Given the description of an element on the screen output the (x, y) to click on. 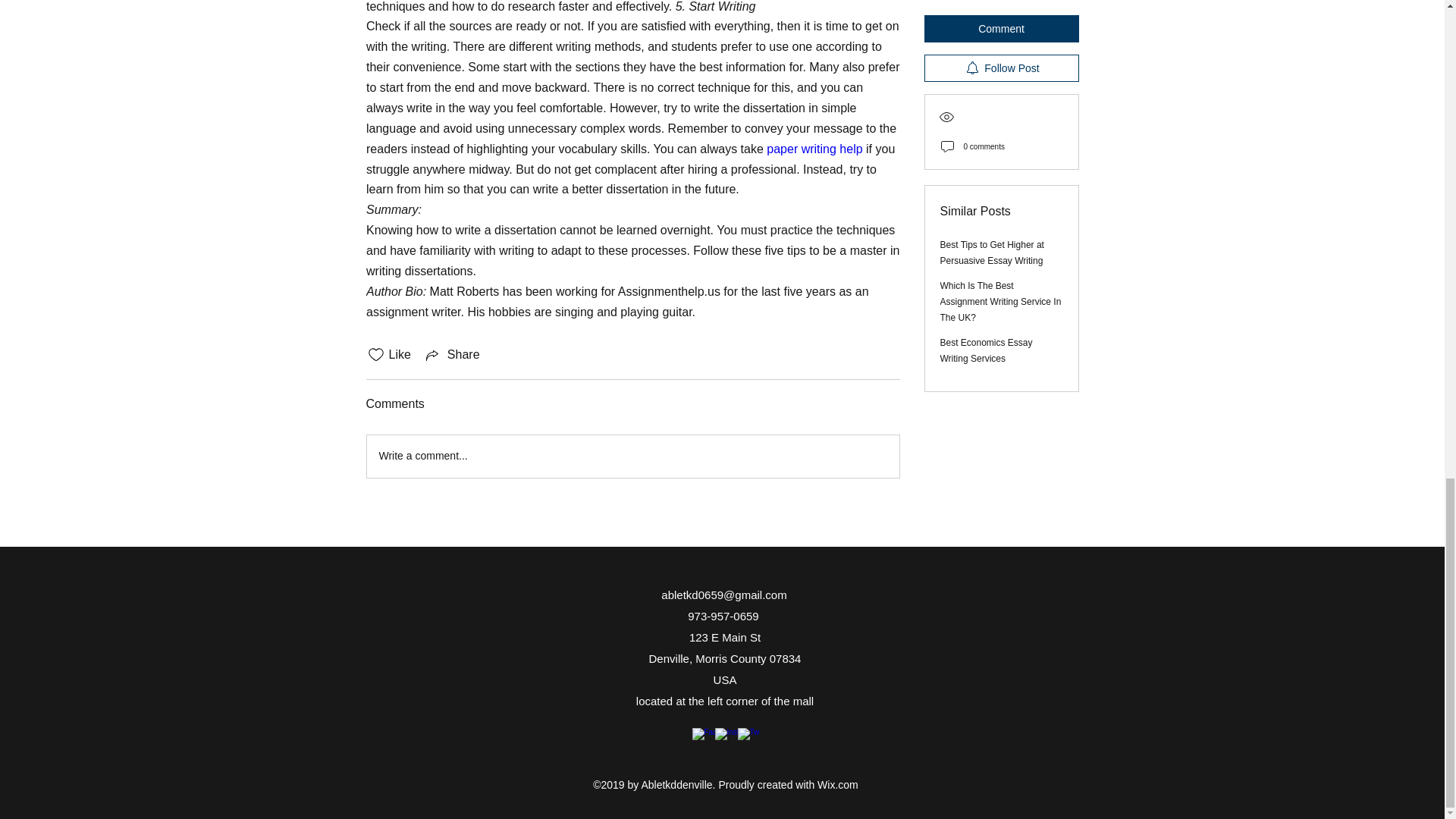
Share (451, 354)
Write a comment... (632, 455)
paper writing help (814, 148)
